Given the description of an element on the screen output the (x, y) to click on. 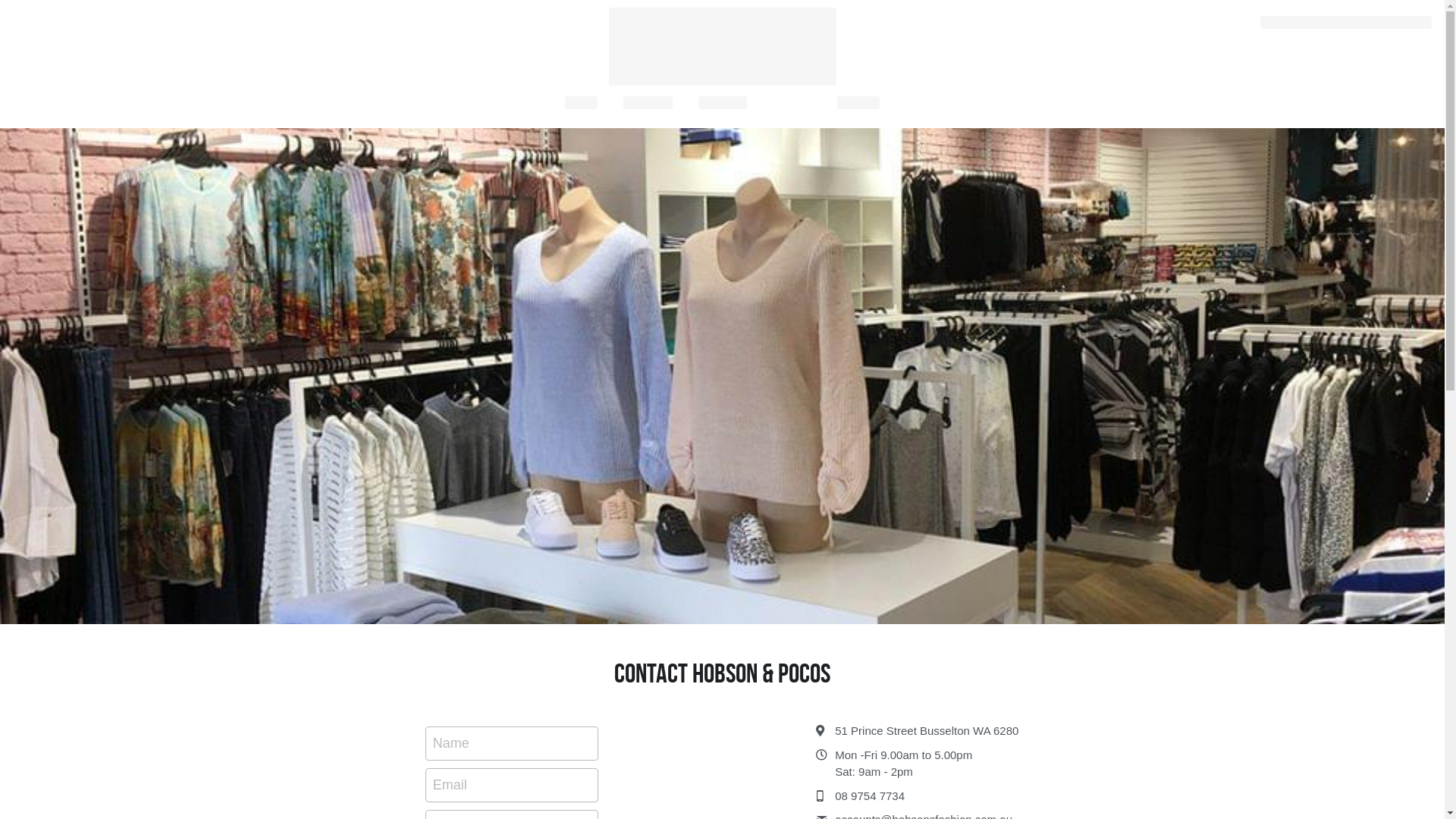
Home Element type: text (580, 102)
Rewards Element type: text (722, 102)
Returns Element type: text (858, 102)
About Us Element type: text (648, 102)
